Given the description of an element on the screen output the (x, y) to click on. 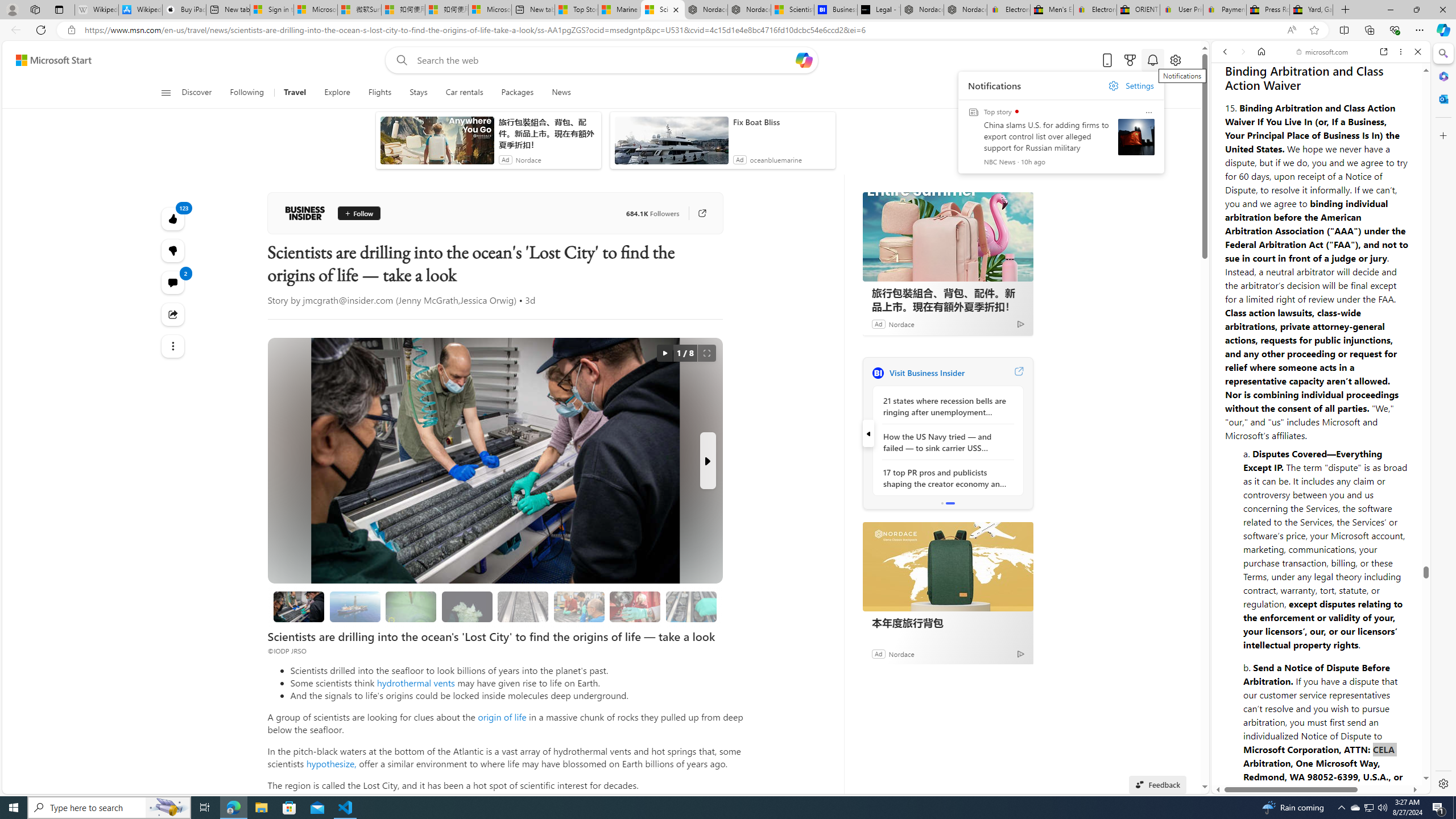
This site scope (1259, 102)
Search the web (1326, 78)
Electronics, Cars, Fashion, Collectibles & More | eBay (1094, 9)
Car rentals (464, 92)
Stays (418, 92)
Payments Terms of Use | eBay.com (1224, 9)
User Privacy Notice | eBay (1181, 9)
Full screen (706, 352)
The Lost City could hold clues to the origin of life. (466, 606)
Packages (517, 92)
Flights (379, 92)
Flights (379, 92)
